Given the description of an element on the screen output the (x, y) to click on. 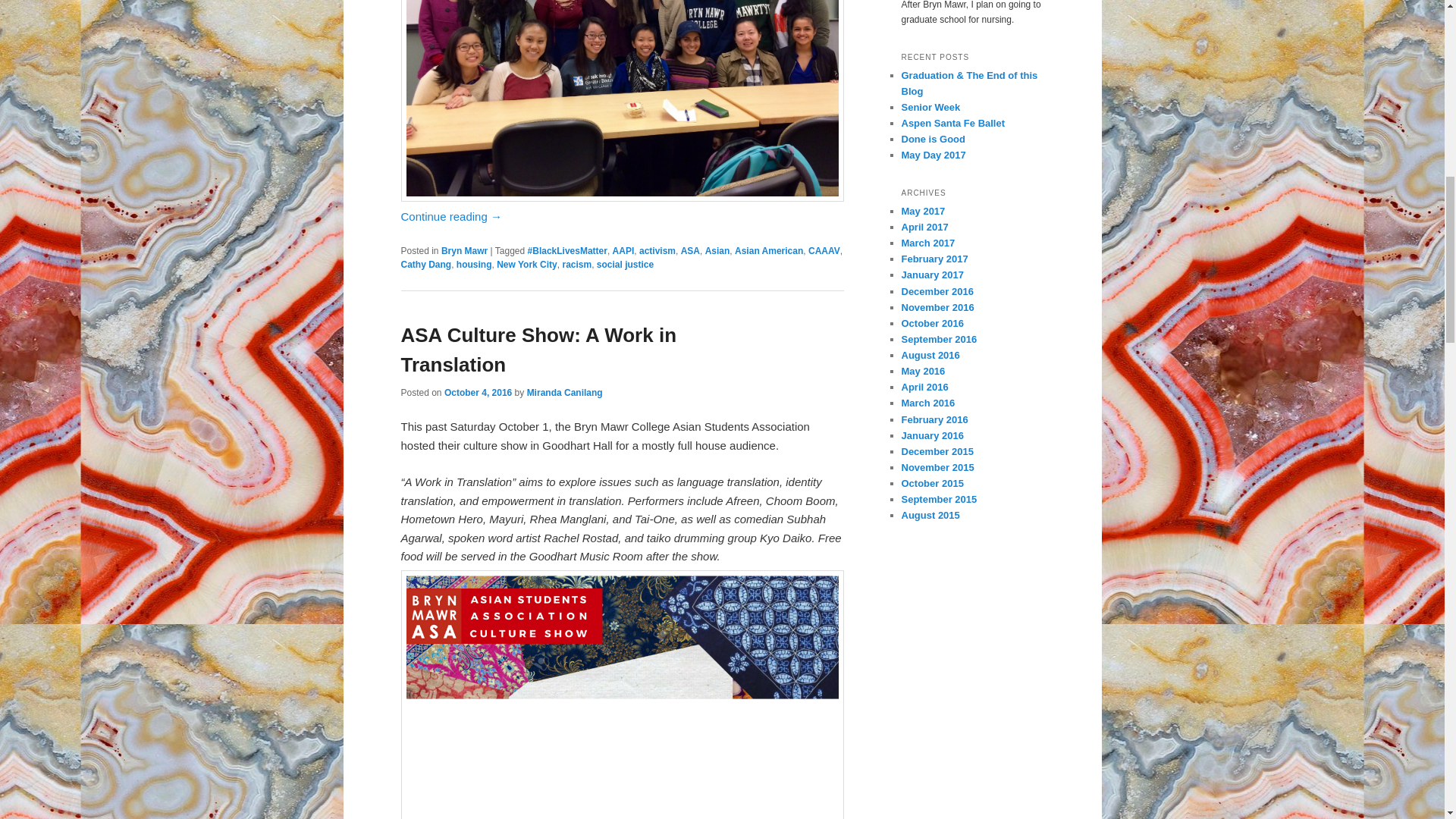
New York City (526, 264)
ASA Culture Show: A Work in Translation (538, 349)
housing (474, 264)
Asian (717, 250)
Asian American (769, 250)
View all posts by Miranda Canilang (564, 392)
8:53 pm (478, 392)
CAAAV (824, 250)
social justice (624, 264)
Cathy Dang (425, 264)
